Given the description of an element on the screen output the (x, y) to click on. 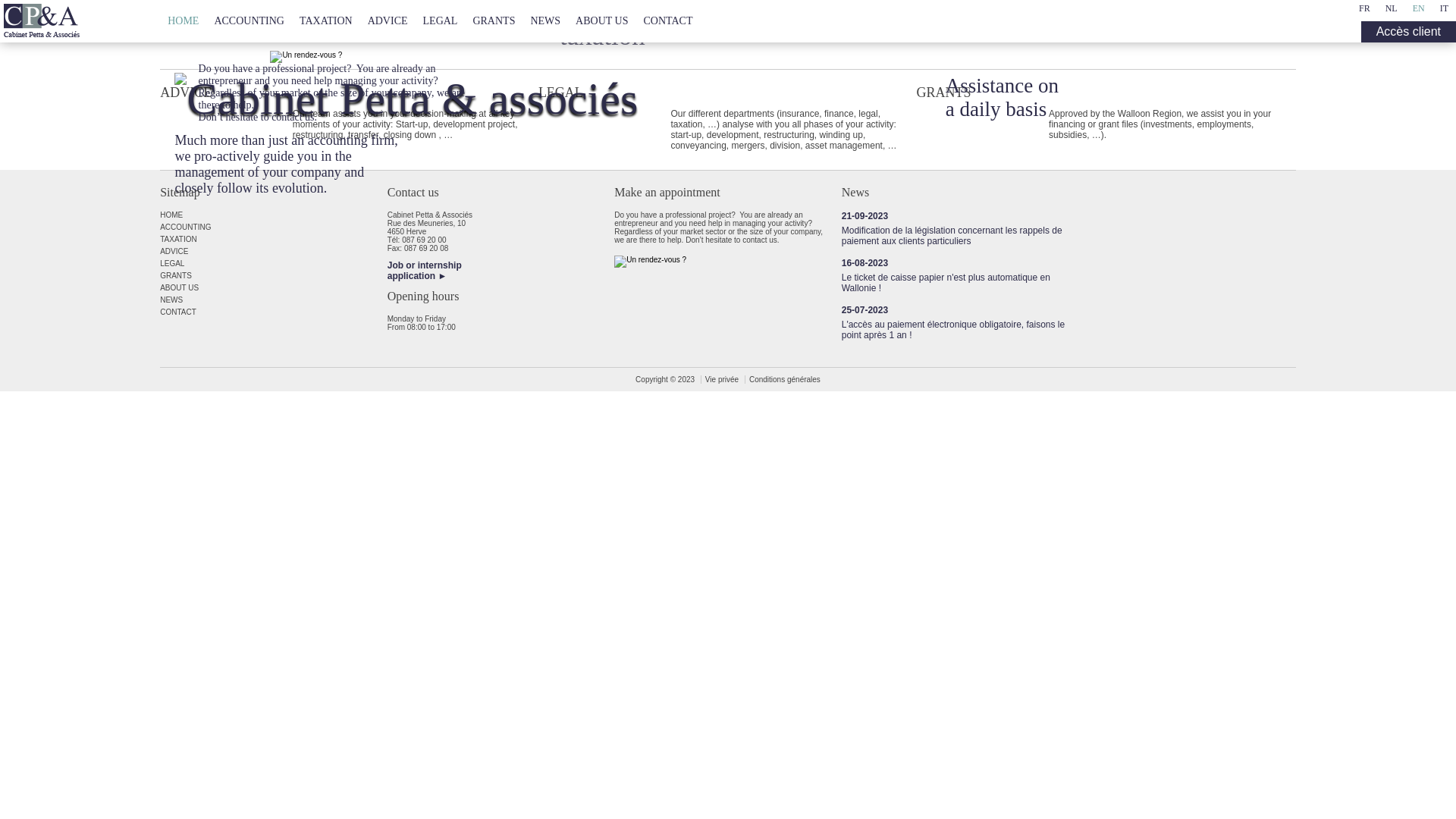
NEWS Element type: text (273, 299)
CONTACT Element type: text (667, 20)
TAXATION Element type: text (325, 20)
TAXATION Element type: text (273, 239)
ADVICE Element type: text (273, 251)
HOME Element type: text (183, 20)
LEGAL Element type: text (440, 20)
LEGAL Element type: text (273, 263)
ABOUT US Element type: text (273, 287)
ABOUT US Element type: text (601, 20)
GRANTS Element type: text (493, 20)
ADVICE Element type: text (387, 20)
GRANTS Element type: text (273, 275)
CONTACT Element type: text (273, 311)
HOME Element type: text (273, 214)
NEWS Element type: text (544, 20)
ACCOUNTING Element type: text (273, 226)
ACCOUNTING Element type: text (248, 20)
